Given the description of an element on the screen output the (x, y) to click on. 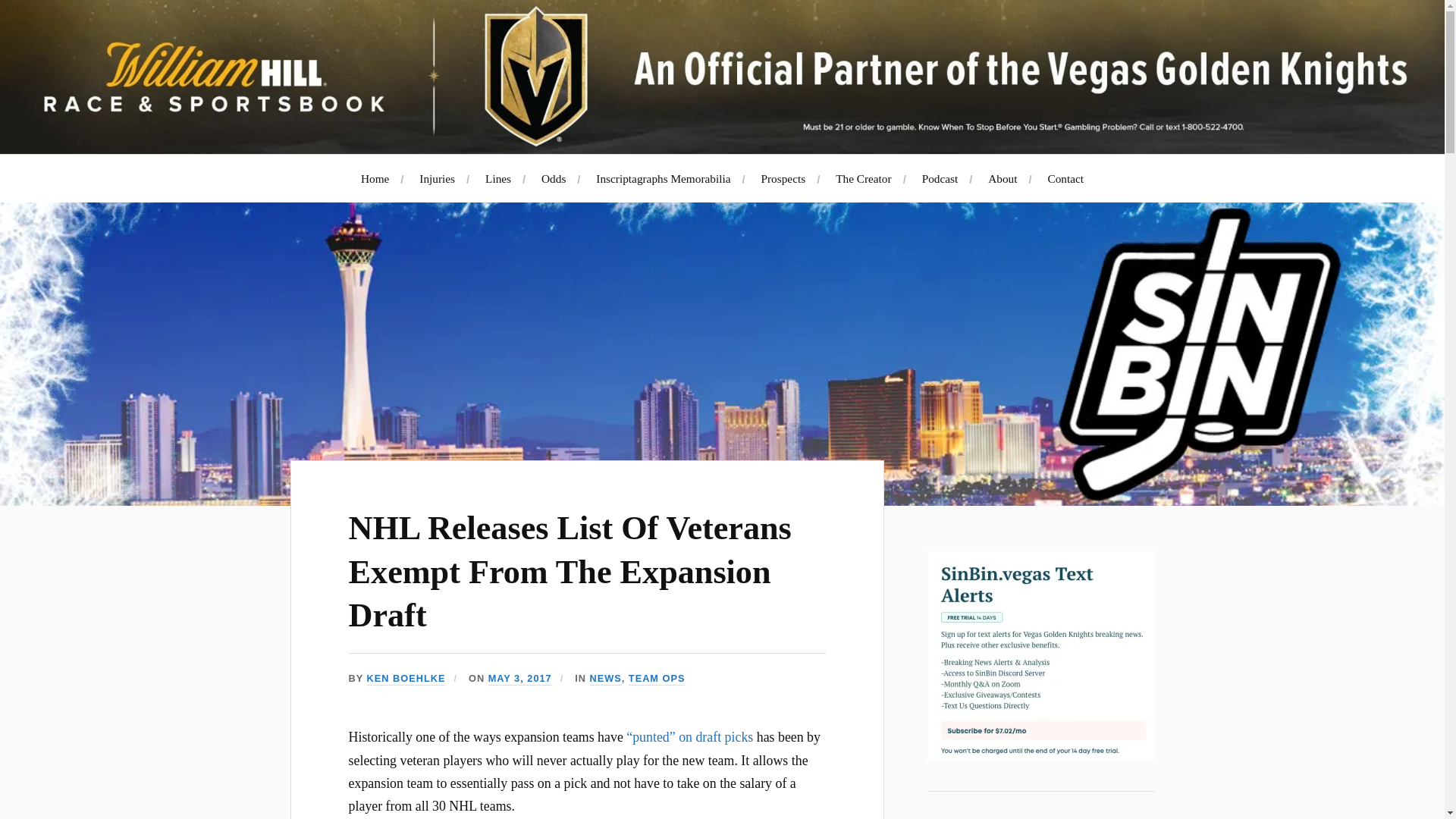
MAY 3, 2017 (519, 678)
Posts by Ken Boehlke (405, 678)
Inscriptagraphs Memorabilia (662, 178)
The Creator (863, 178)
KEN BOEHLKE (405, 678)
TEAM OPS (656, 678)
Prospects (783, 178)
NEWS (605, 678)
